Given the description of an element on the screen output the (x, y) to click on. 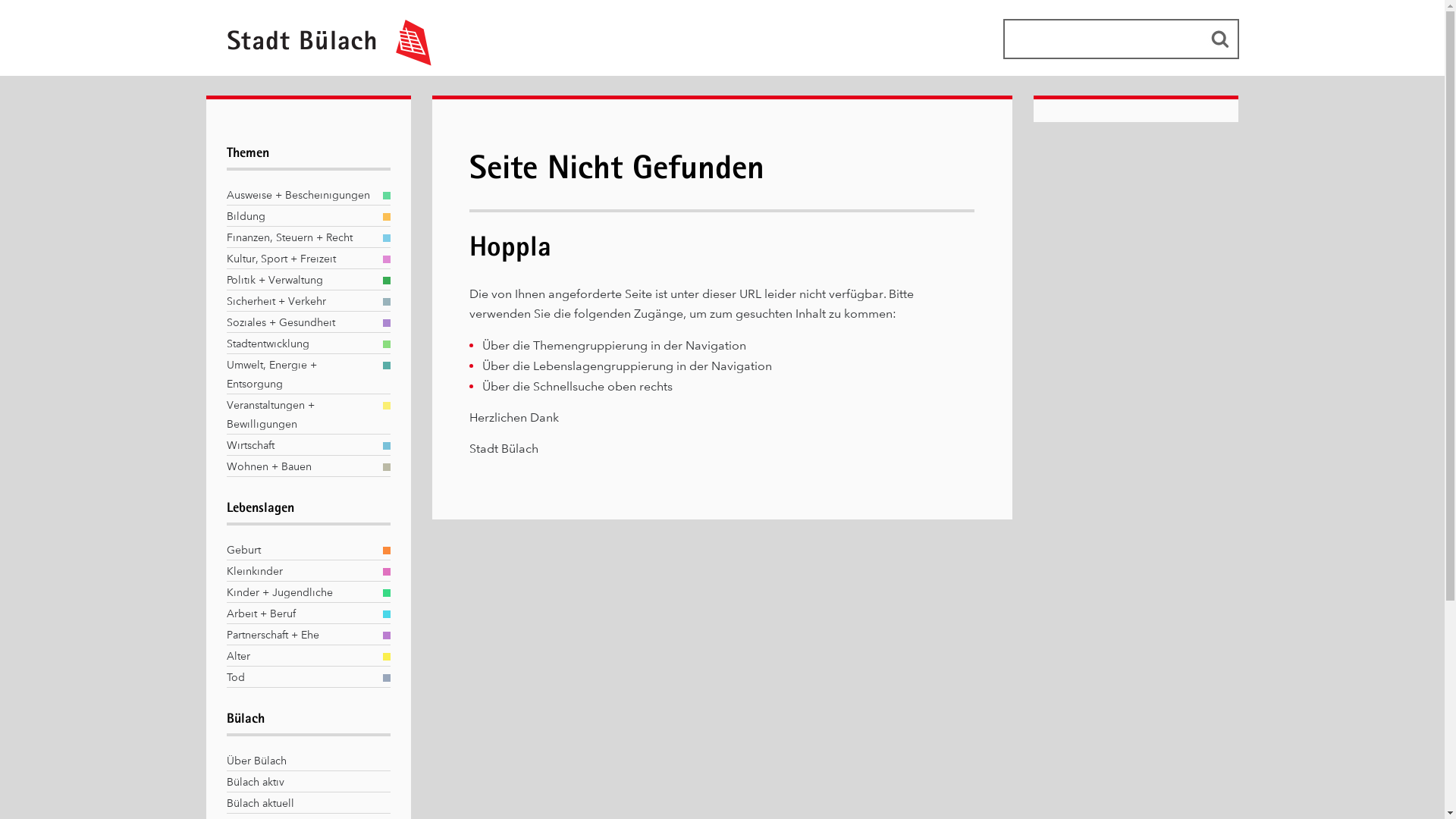
Alter Element type: text (299, 655)
Soziales + Gesundheit Element type: text (299, 322)
zur Startseite Element type: hover (321, 61)
Wohnen + Bauen Element type: text (299, 466)
Kinder + Jugendliche Element type: text (299, 592)
Wirtschaft Element type: text (299, 445)
Politik + Verwaltung Element type: text (299, 279)
Kleinkinder Element type: text (299, 570)
Veranstaltungen + Bewilligungen Element type: text (299, 414)
Geburt Element type: text (299, 549)
Sicherheit + Verkehr Element type: text (299, 300)
Kultur, Sport + Freizeit Element type: text (299, 258)
Suche Starten Element type: hover (1219, 38)
Bildung Element type: text (299, 216)
Partnerschaft + Ehe Element type: text (299, 634)
Umwelt, Energie + Entsorgung Element type: text (299, 374)
Arbeit + Beruf Element type: text (299, 613)
Stadtentwicklung Element type: text (299, 343)
Tod Element type: text (299, 677)
Finanzen, Steuern + Recht Element type: text (299, 237)
Ausweise + Bescheinigungen Element type: text (299, 194)
